Given the description of an element on the screen output the (x, y) to click on. 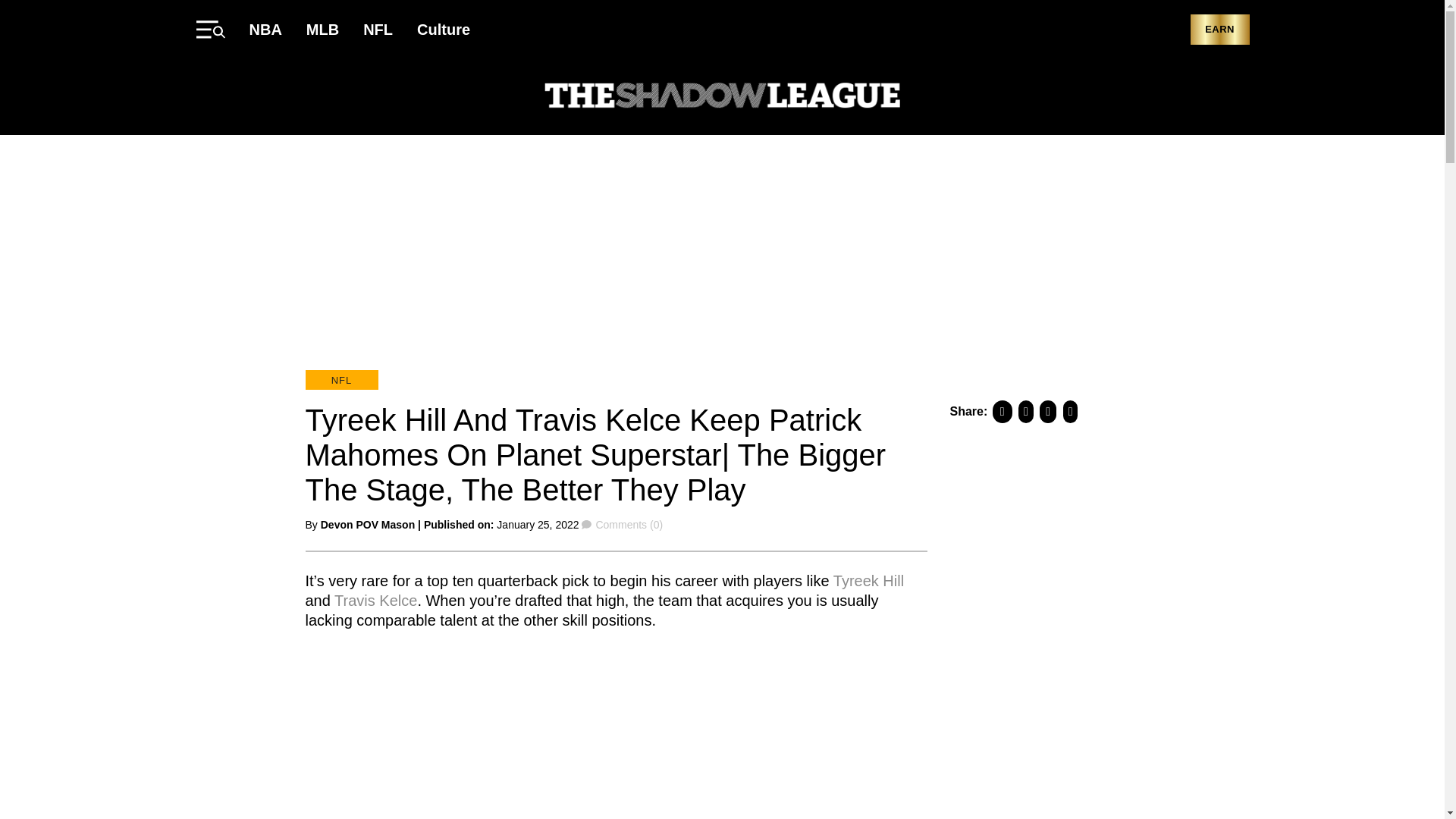
MLB (322, 29)
NFL (377, 29)
EARN (1220, 29)
Culture (443, 29)
Tyreek Hill (868, 579)
Travis Kelce (375, 599)
NBA (264, 29)
NFL (340, 379)
Devon POV Mason (367, 524)
The Shadow League (721, 96)
